Given the description of an element on the screen output the (x, y) to click on. 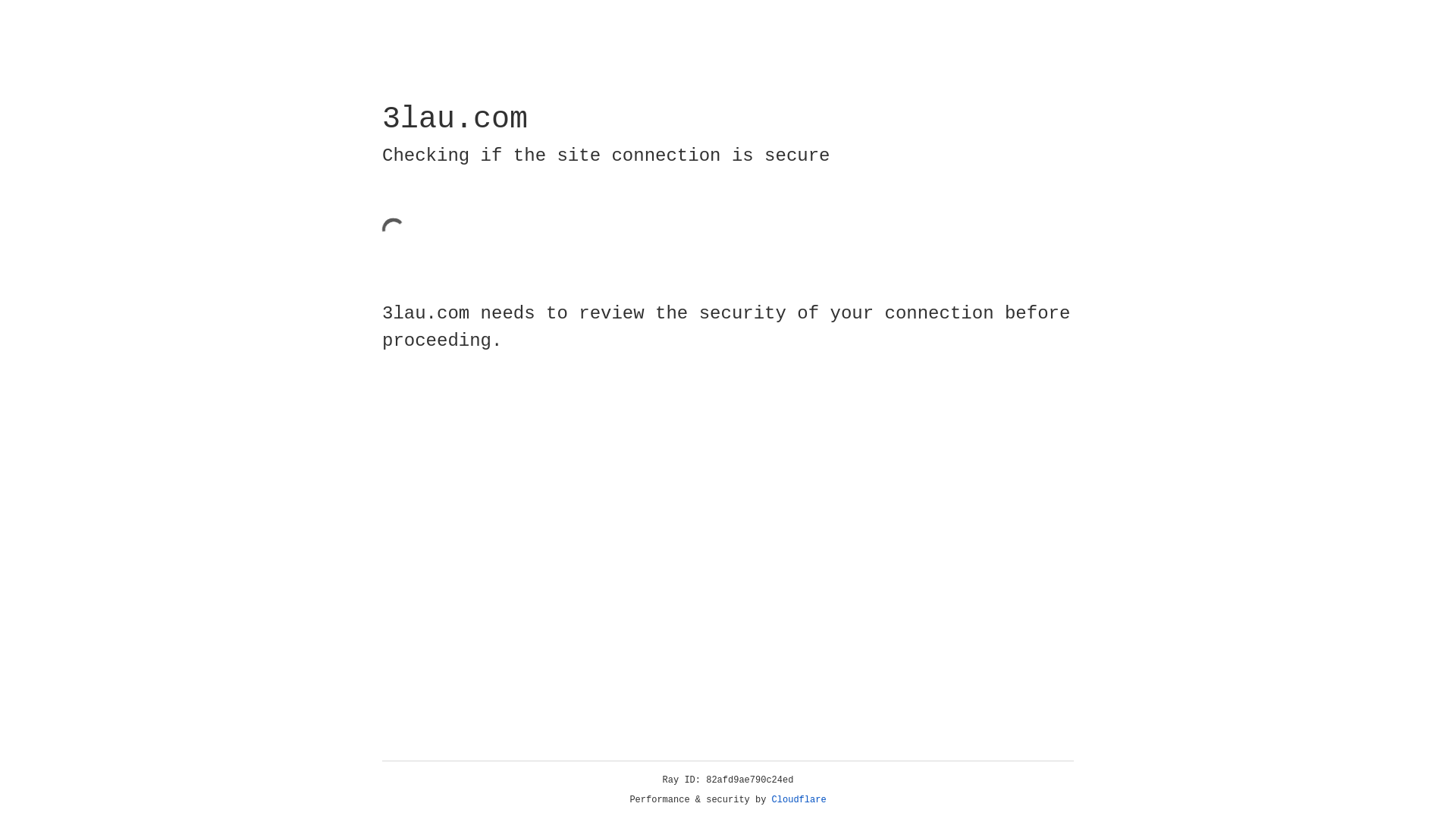
Cloudflare Element type: text (798, 799)
